Given the description of an element on the screen output the (x, y) to click on. 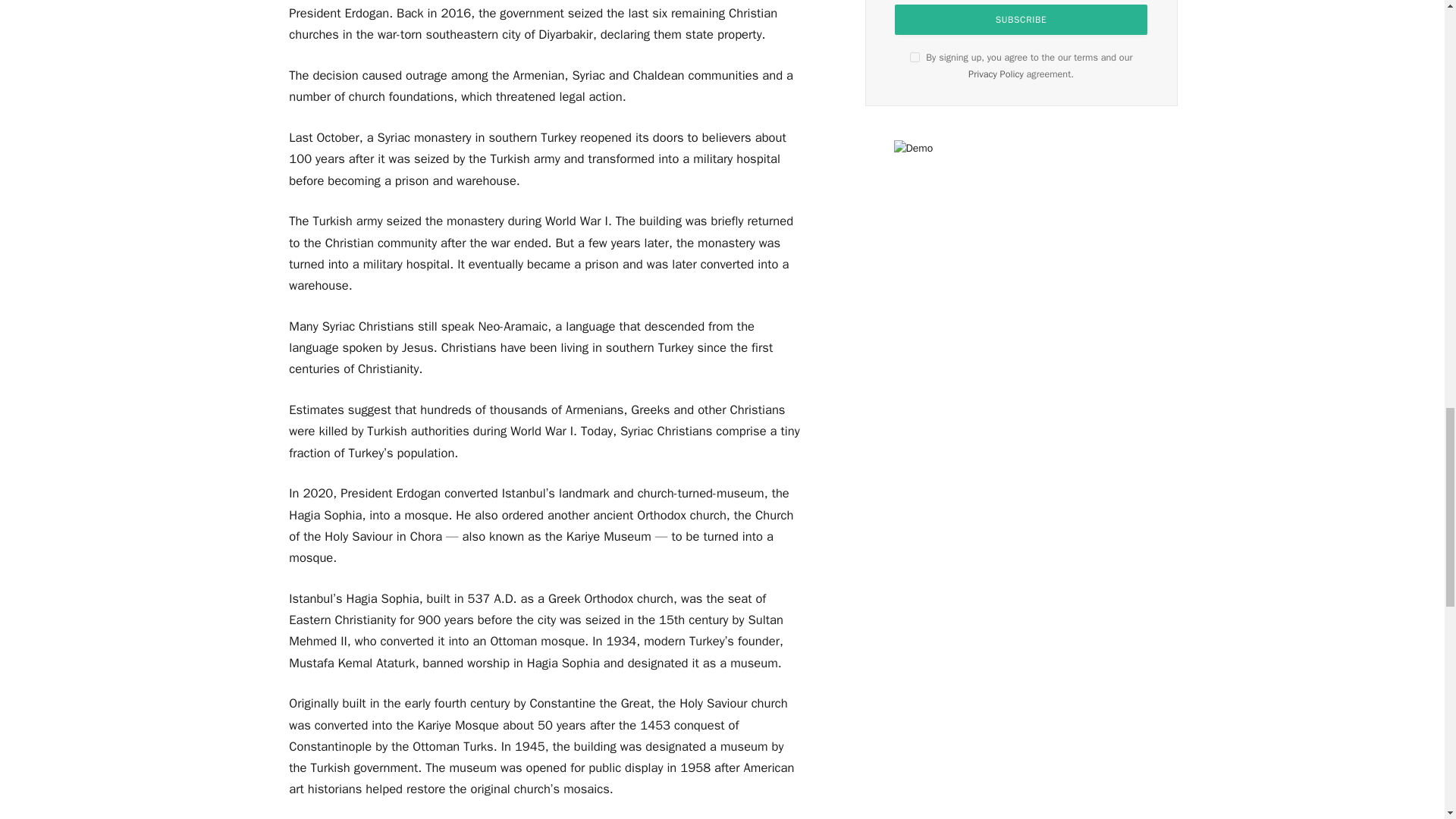
on (915, 57)
Subscribe (1021, 19)
